Given the description of an element on the screen output the (x, y) to click on. 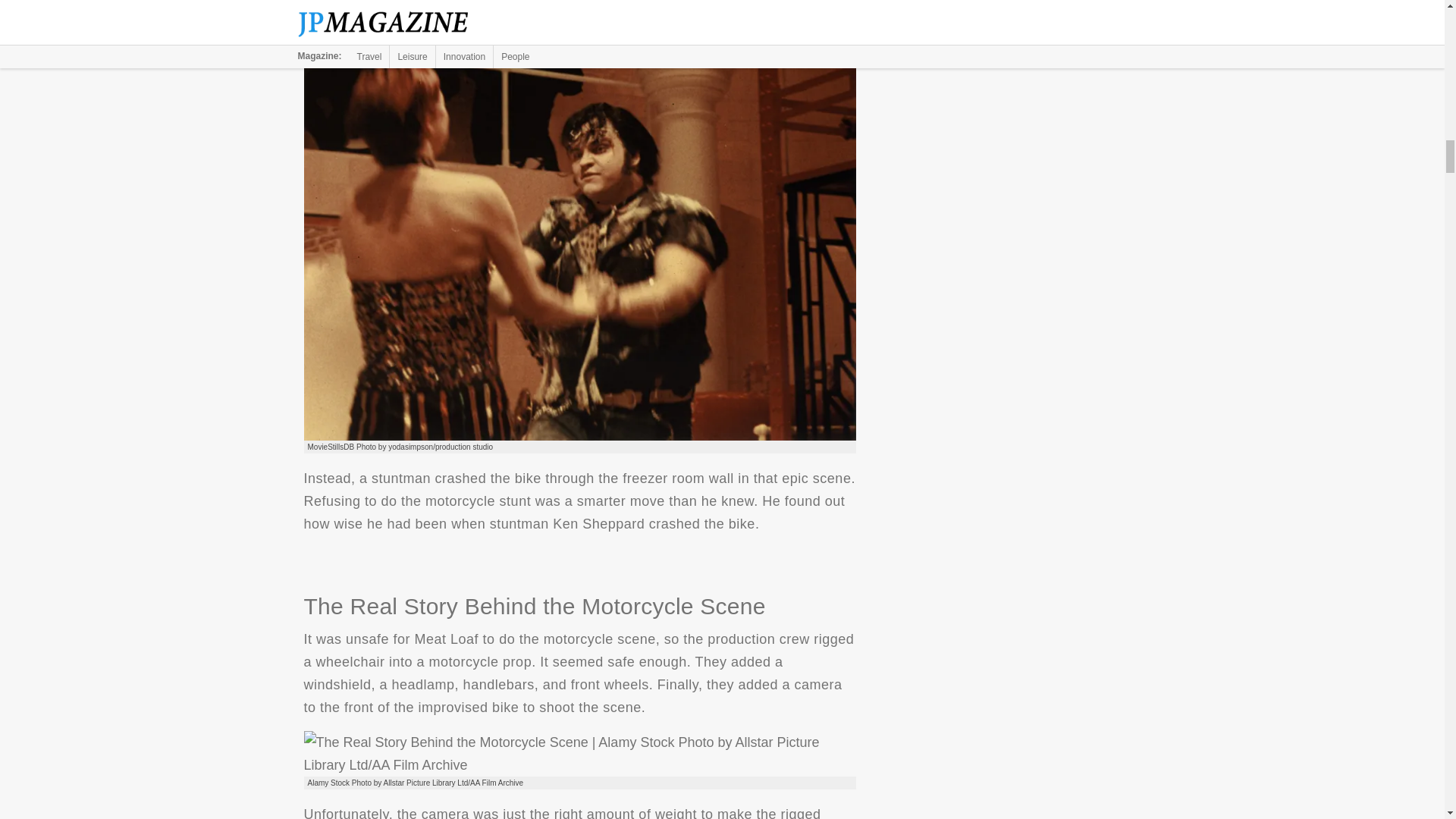
The Real Story Behind the Motorcycle Scene (579, 753)
